Given the description of an element on the screen output the (x, y) to click on. 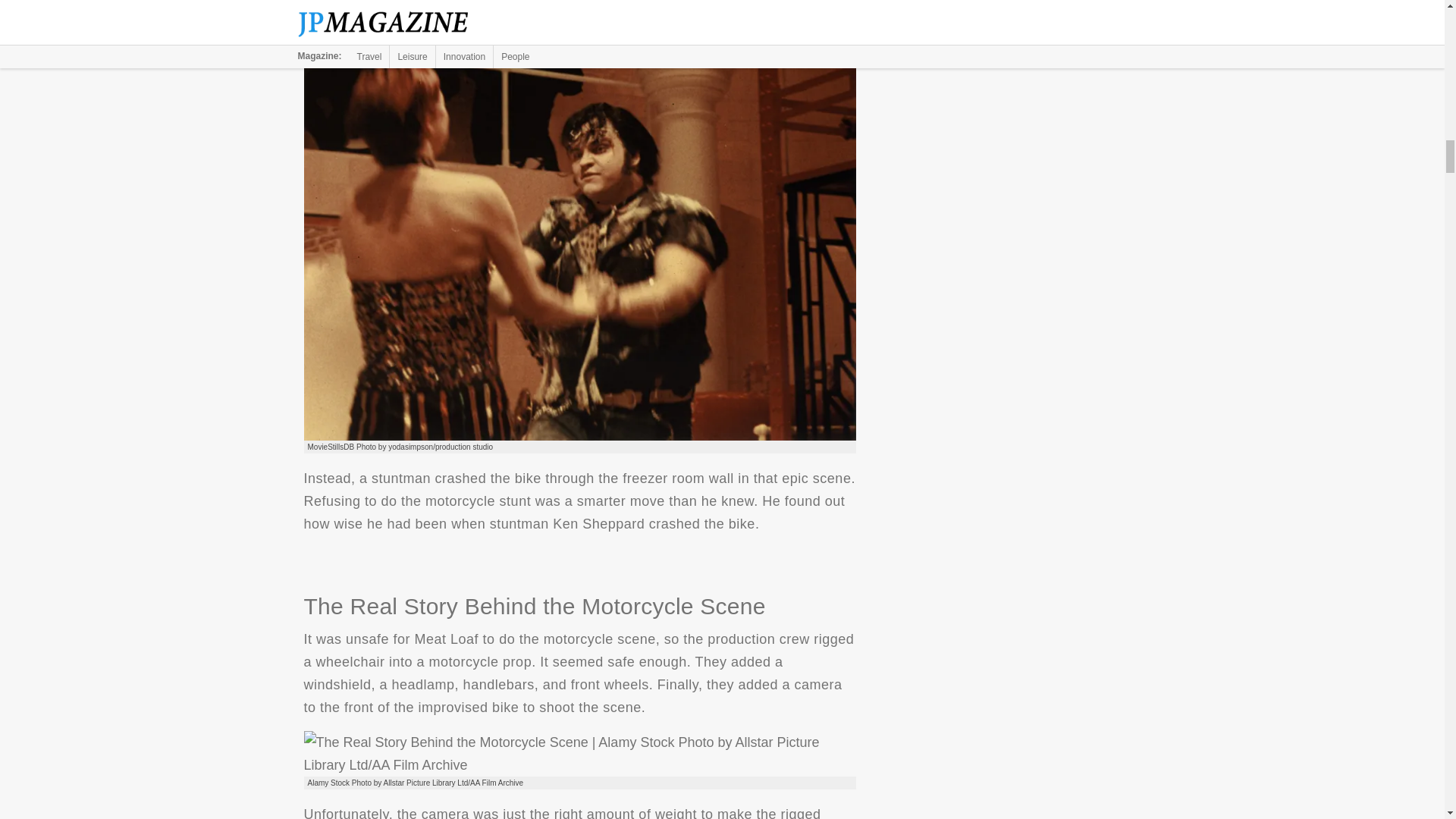
The Real Story Behind the Motorcycle Scene (579, 753)
